Given the description of an element on the screen output the (x, y) to click on. 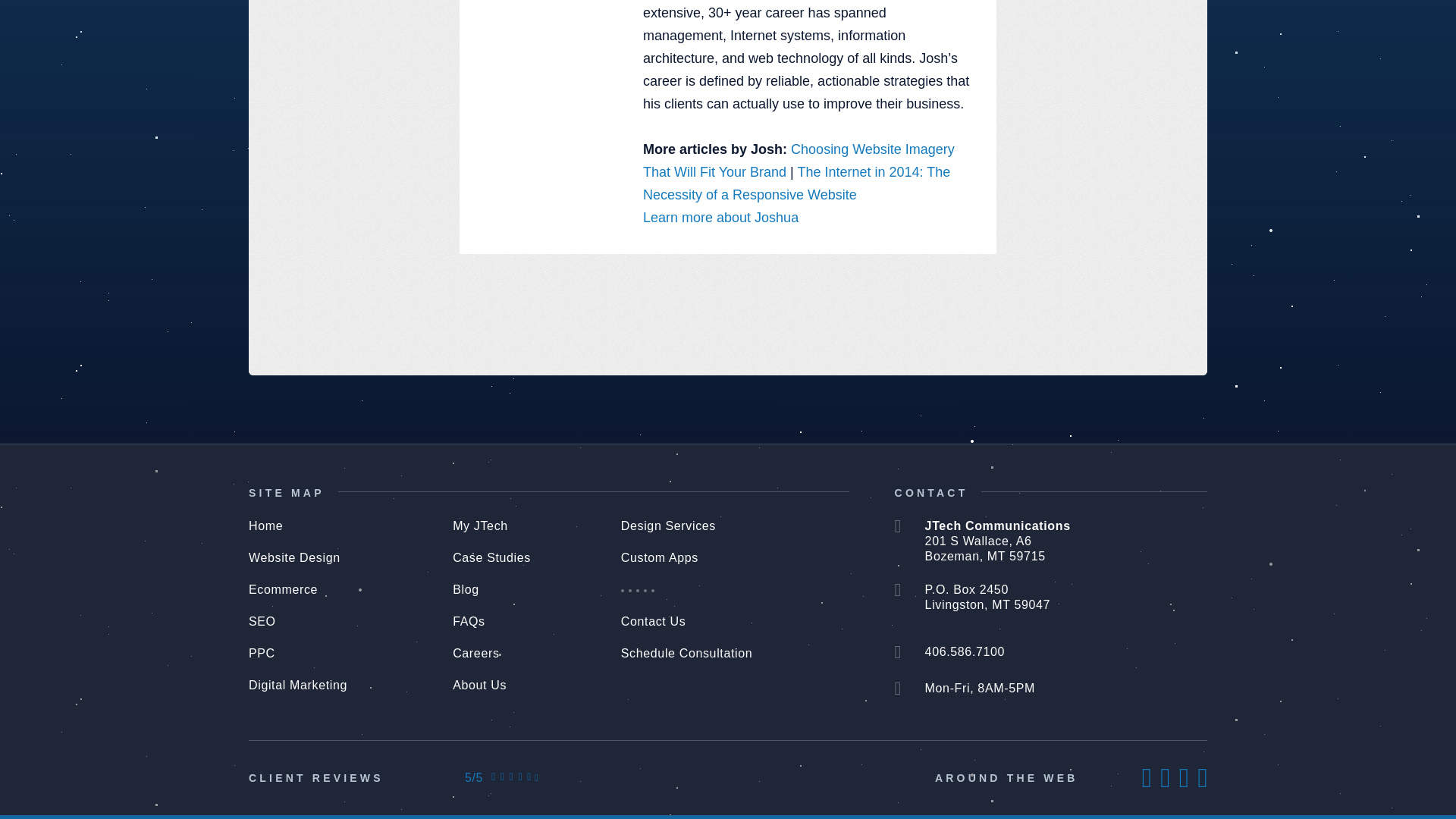
PPC (261, 653)
The Internet in 2014: The Necessity of a Responsive Website (796, 183)
Choosing Website Imagery That Will Fit Your Brand (799, 160)
Home (265, 525)
Case Studies (491, 557)
Website Design (294, 557)
Ecommerce (282, 589)
Learn more about Joshua (720, 217)
SEO (262, 621)
Digital Marketing (297, 685)
